Given the description of an element on the screen output the (x, y) to click on. 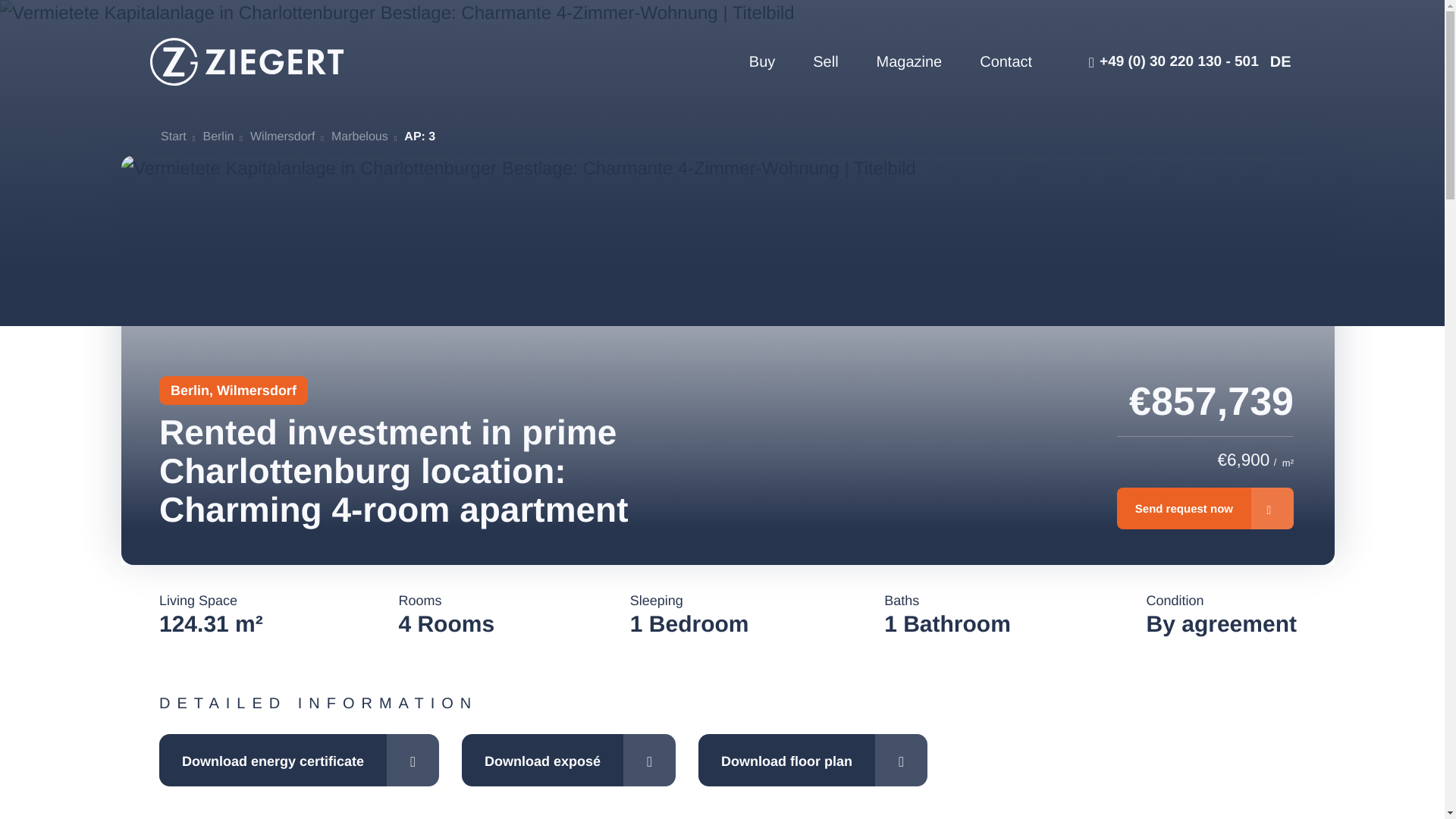
Magazine (909, 62)
Magazine (909, 62)
Submit (691, 567)
Buy (761, 62)
DE (1280, 61)
Buy (761, 62)
Berlin (217, 137)
Sell (825, 62)
Contact (1005, 62)
Wilmersdorf (282, 137)
